Given the description of an element on the screen output the (x, y) to click on. 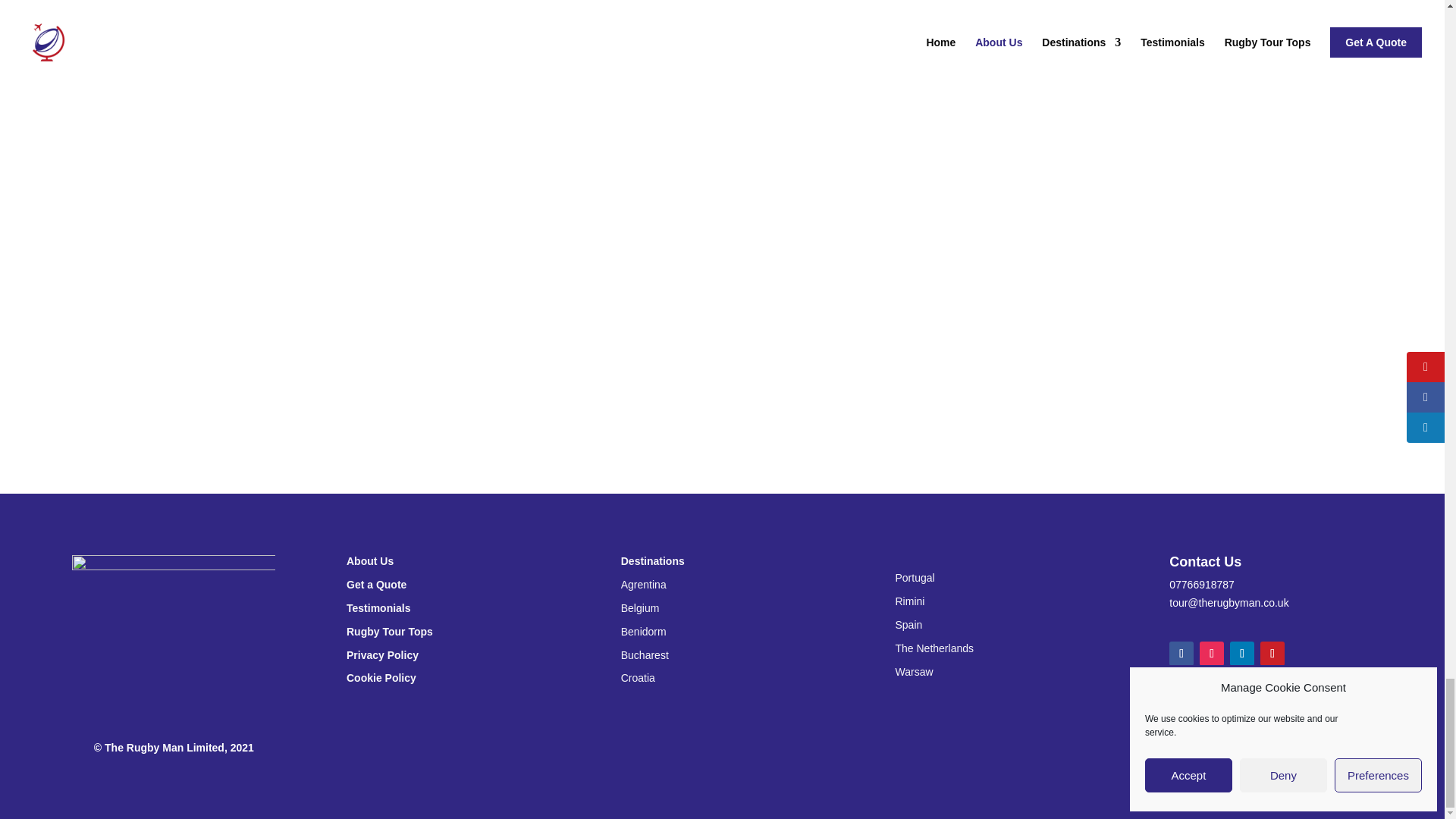
Follow on LinkedIn (1241, 653)
Follow on Instagram (1211, 653)
Follow on Facebook (1181, 653)
Follow on Pinterest (1272, 653)
TRM01-Logo-StrapWO-AW (173, 626)
